Given the description of an element on the screen output the (x, y) to click on. 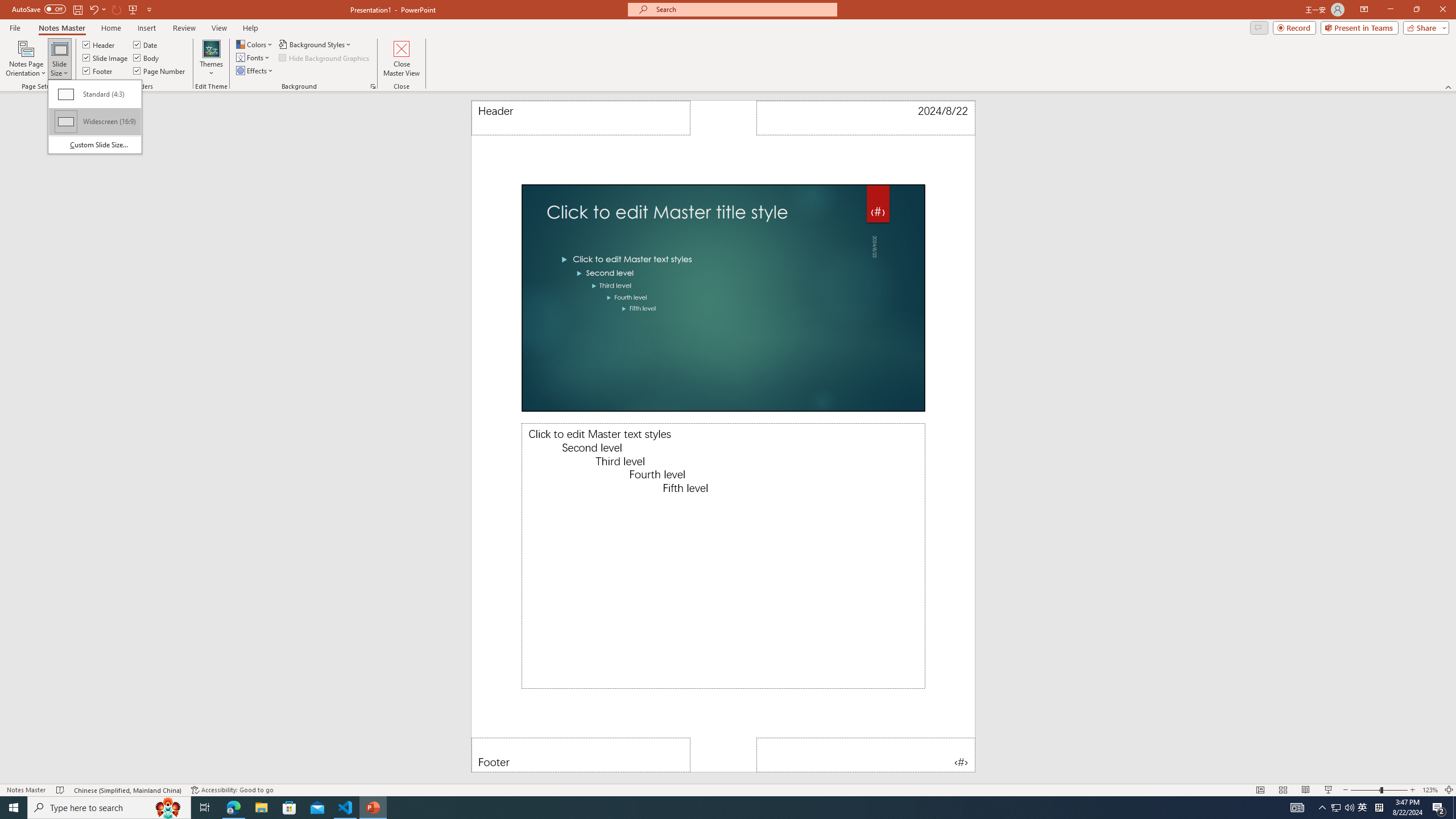
Colors (255, 44)
Date (866, 117)
Zoom 123% (1430, 790)
Footer (580, 754)
